Given the description of an element on the screen output the (x, y) to click on. 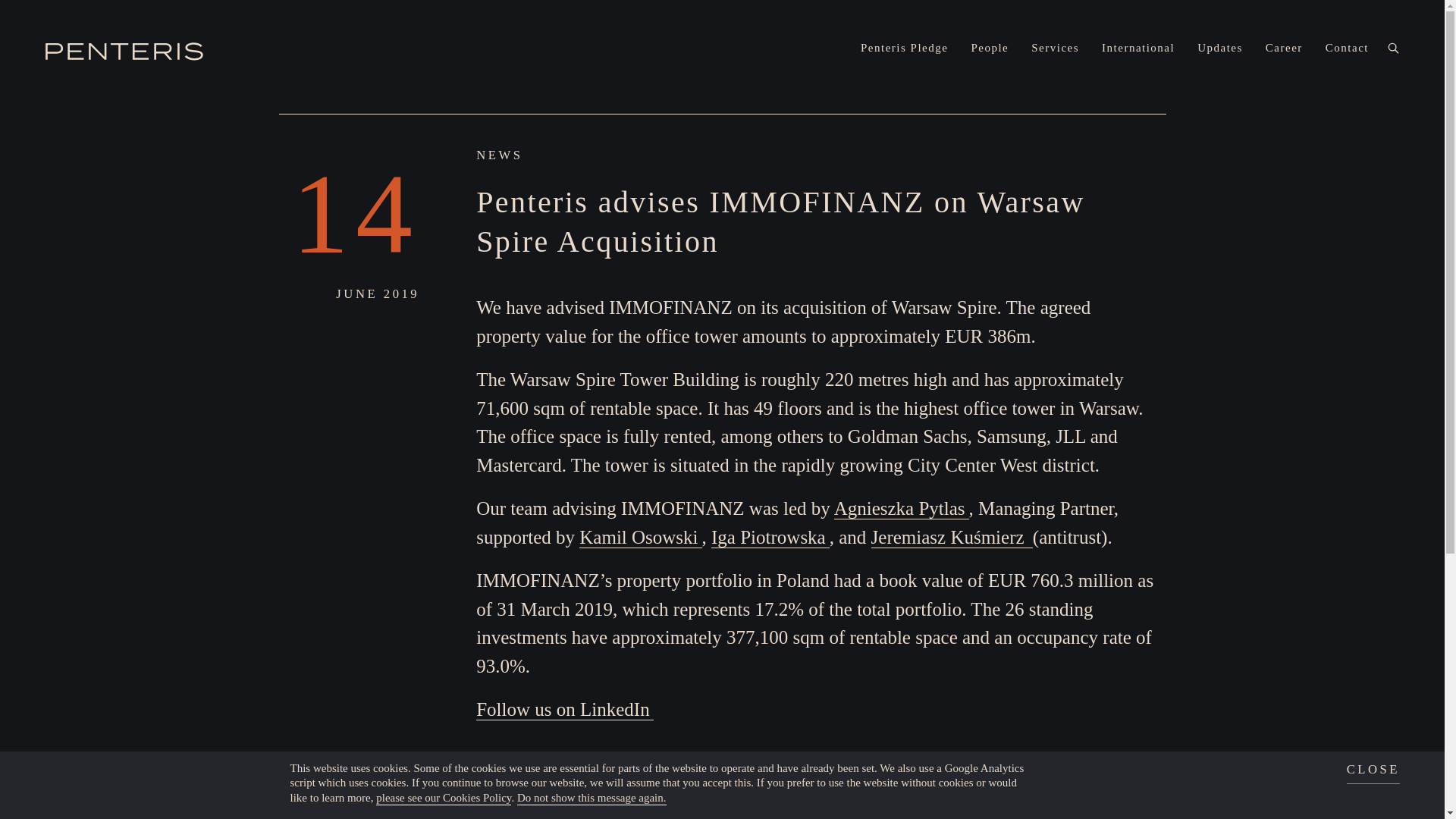
Contact (1346, 47)
People (990, 47)
International (1138, 47)
Services (1054, 47)
Updates (1219, 47)
Career (1284, 47)
Penteris Pledge (903, 47)
